Given the description of an element on the screen output the (x, y) to click on. 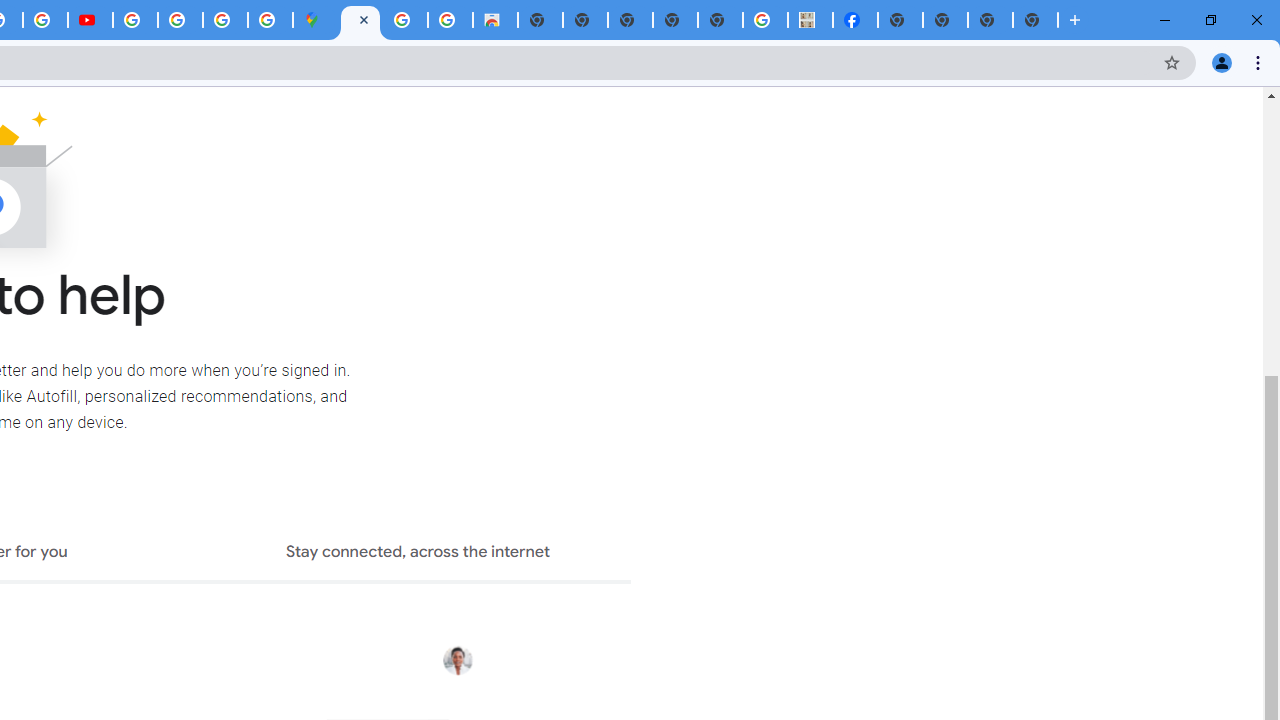
New Tab (900, 20)
Google Maps (315, 20)
Subscriptions - YouTube (89, 20)
